Given the description of an element on the screen output the (x, y) to click on. 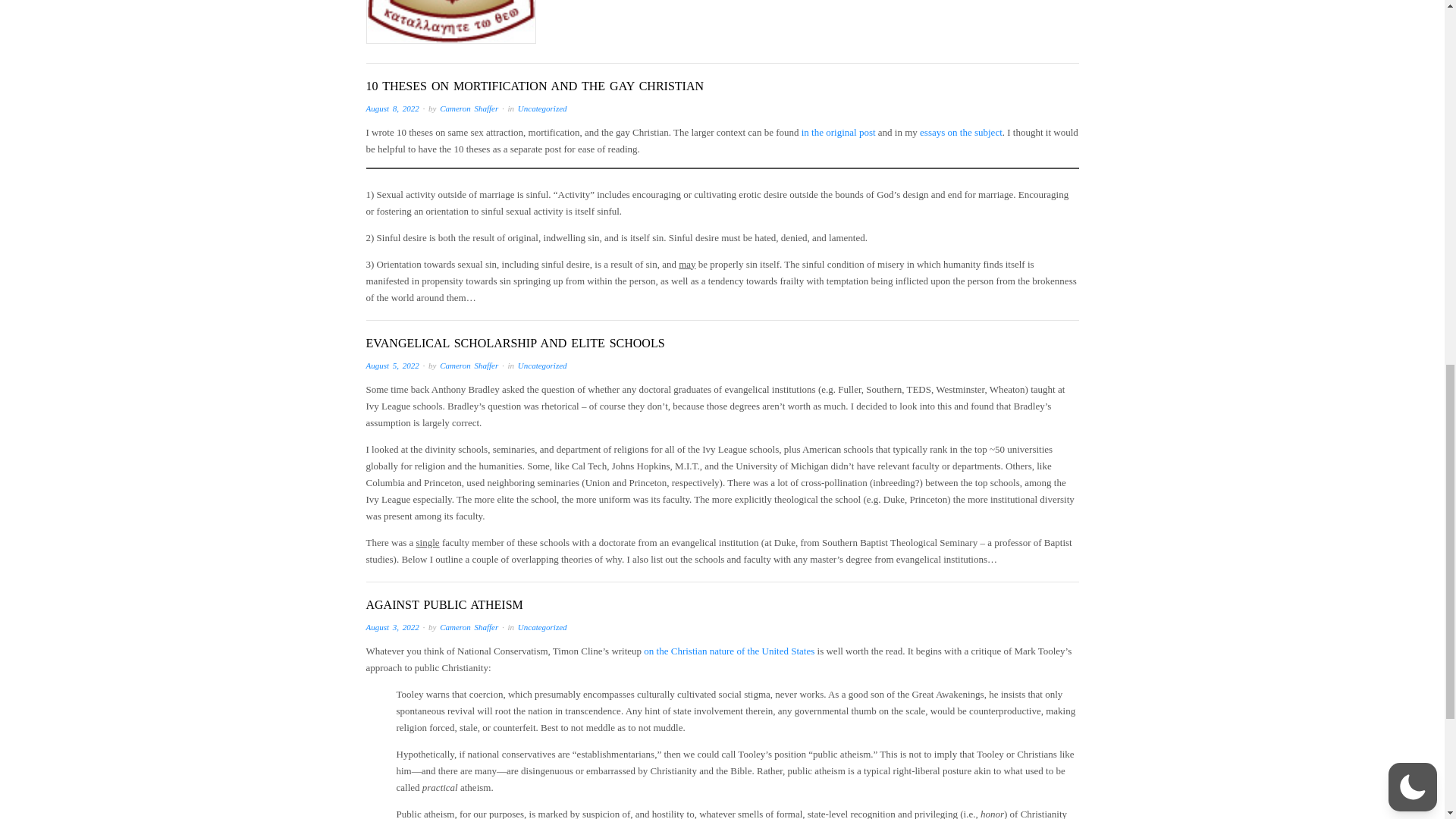
on the Christian nature of the United States (728, 650)
Evangelical Scholarship and Elite Schools (514, 342)
August 8, 2022 (392, 108)
Against Public Atheism (443, 604)
Posts by Cameron Shaffer (468, 365)
Uncategorized (542, 108)
August 3, 2022 (392, 626)
in the original post (839, 132)
Cameron Shaffer (468, 365)
Posts by Cameron Shaffer (468, 108)
10 THESES ON MORTIFICATION AND THE GAY CHRISTIAN (534, 85)
Uncategorized (542, 626)
Uncategorized (542, 365)
Cameron Shaffer (468, 626)
essays on the subject (961, 132)
